Given the description of an element on the screen output the (x, y) to click on. 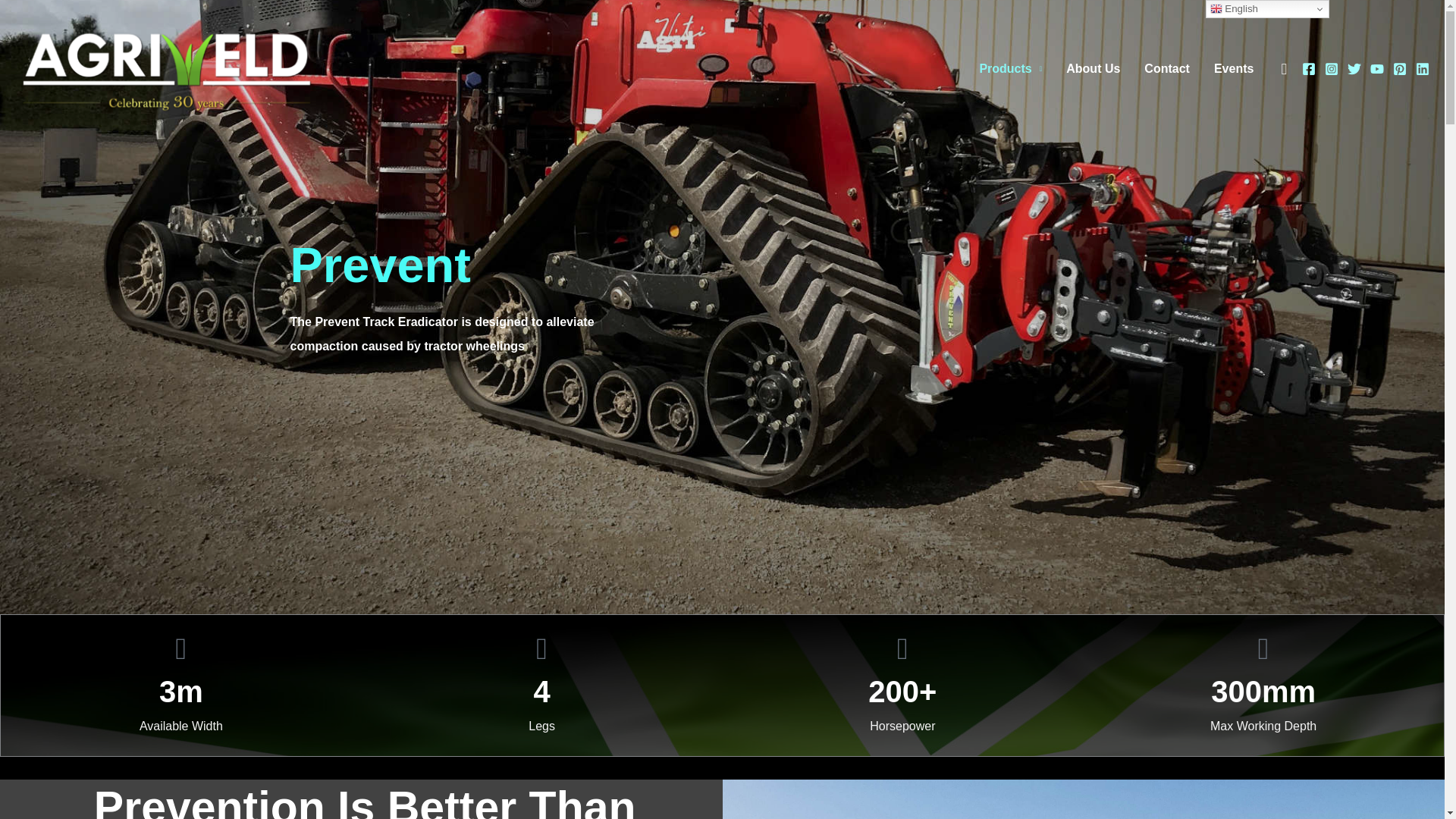
Products (1010, 68)
About Us (1093, 68)
Contact (1167, 68)
Events (1233, 68)
